Given the description of an element on the screen output the (x, y) to click on. 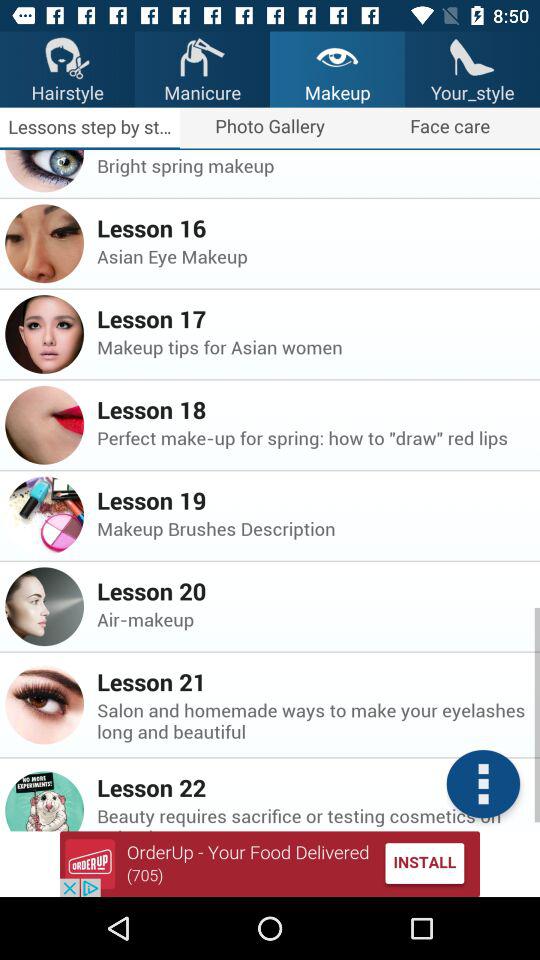
add the opion (270, 864)
